Given the description of an element on the screen output the (x, y) to click on. 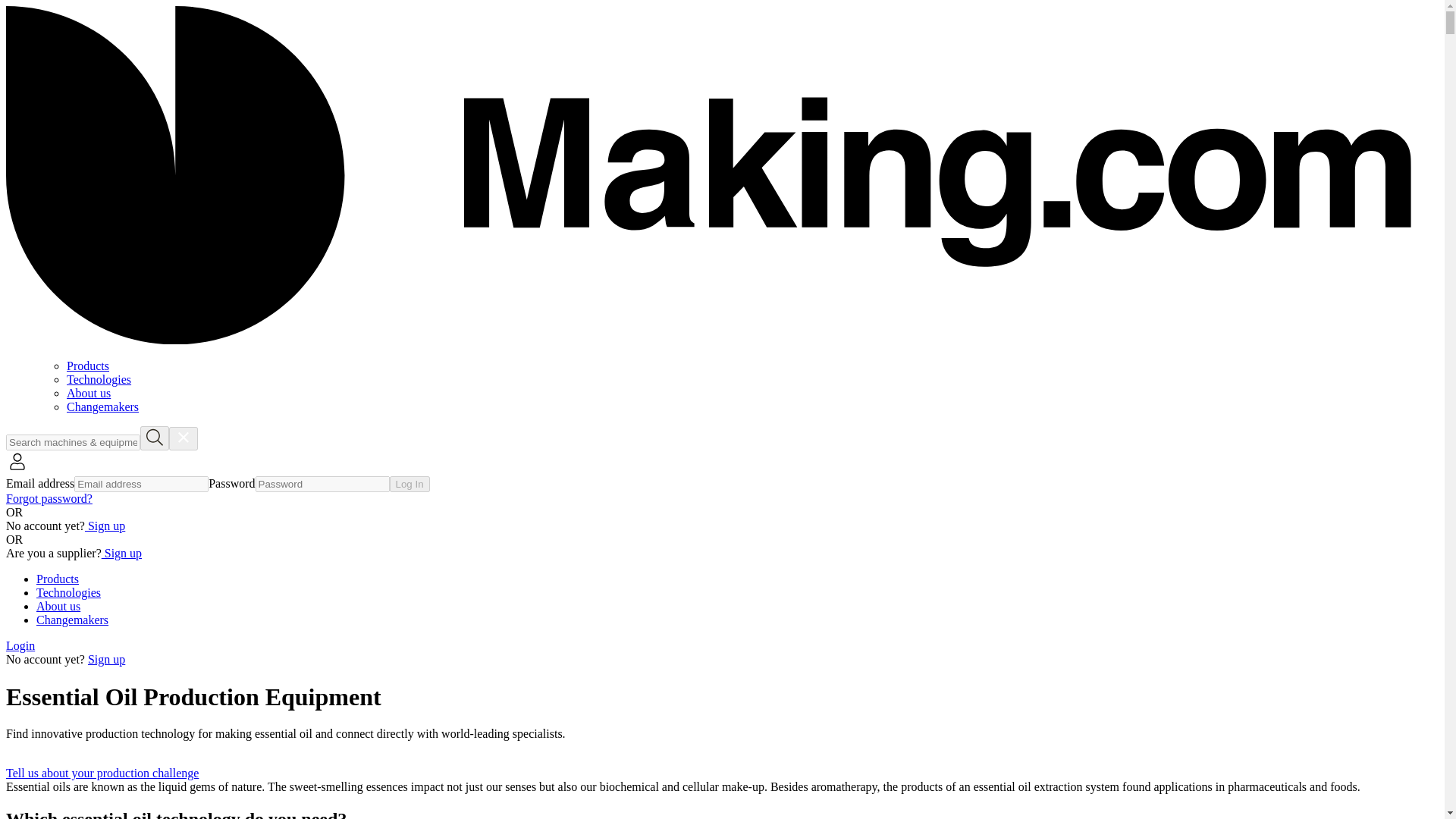
 Sign up (121, 553)
 Sign up (104, 525)
Tell us about your production challenge (113, 772)
Log In (409, 483)
Changemakers (71, 619)
Forgot password? (49, 498)
Changemakers (102, 406)
Search (153, 437)
Login (19, 645)
About us (58, 605)
